Given the description of an element on the screen output the (x, y) to click on. 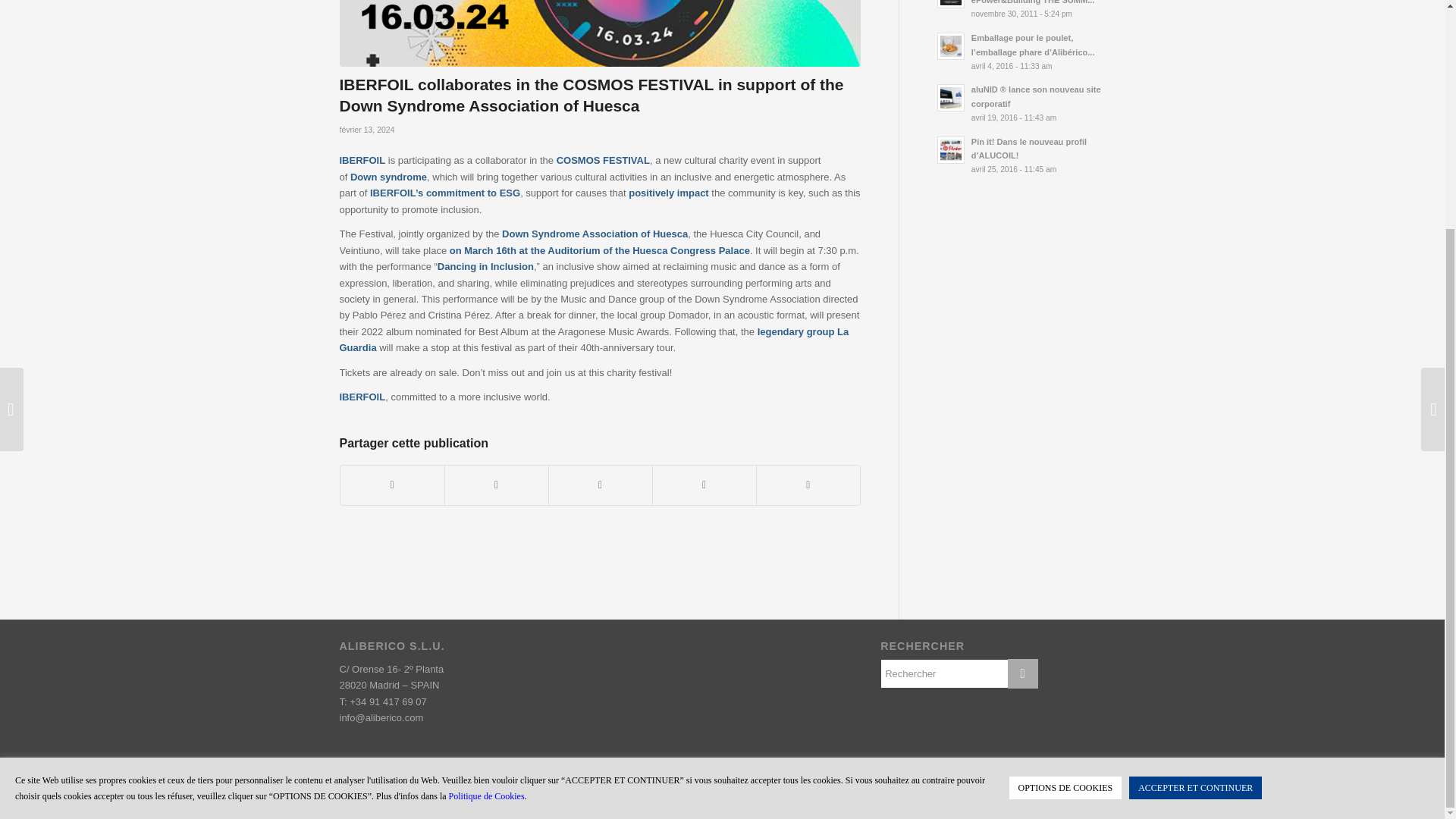
IBERFOIL (391, 193)
Down Syndrome Association of Huesca (594, 233)
COSMOS FESTIVAL (602, 160)
IBERFOIL (362, 396)
IBERFOIL (362, 160)
